Given the description of an element on the screen output the (x, y) to click on. 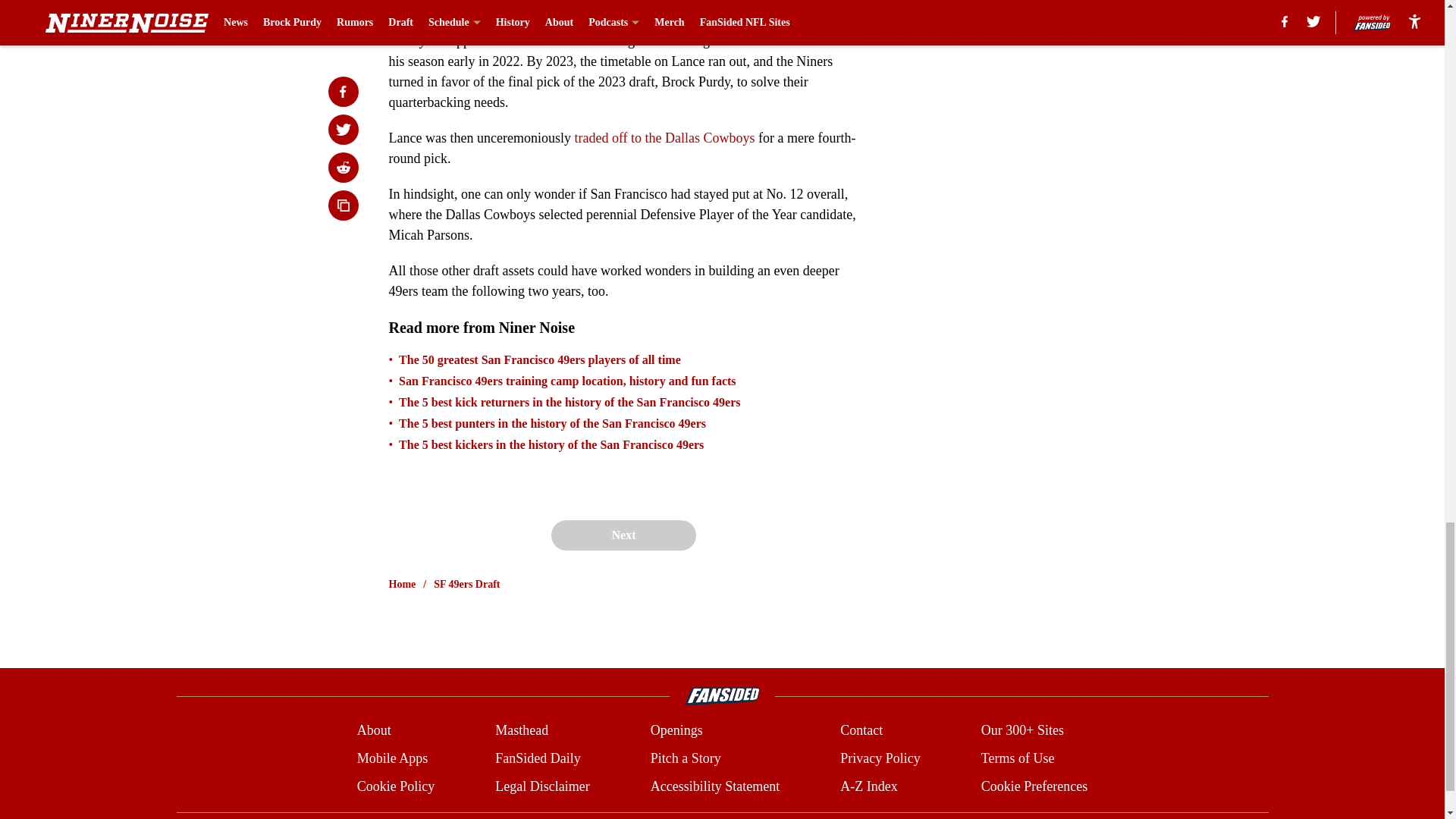
SF 49ers Draft (466, 584)
About (373, 730)
The 5 best punters in the history of the San Francisco 49ers (552, 423)
traded off to the Dallas Cowboys (663, 137)
Next (622, 535)
Home (401, 584)
The 5 best kickers in the history of the San Francisco 49ers (550, 445)
The 50 greatest San Francisco 49ers players of all time (539, 359)
